Given the description of an element on the screen output the (x, y) to click on. 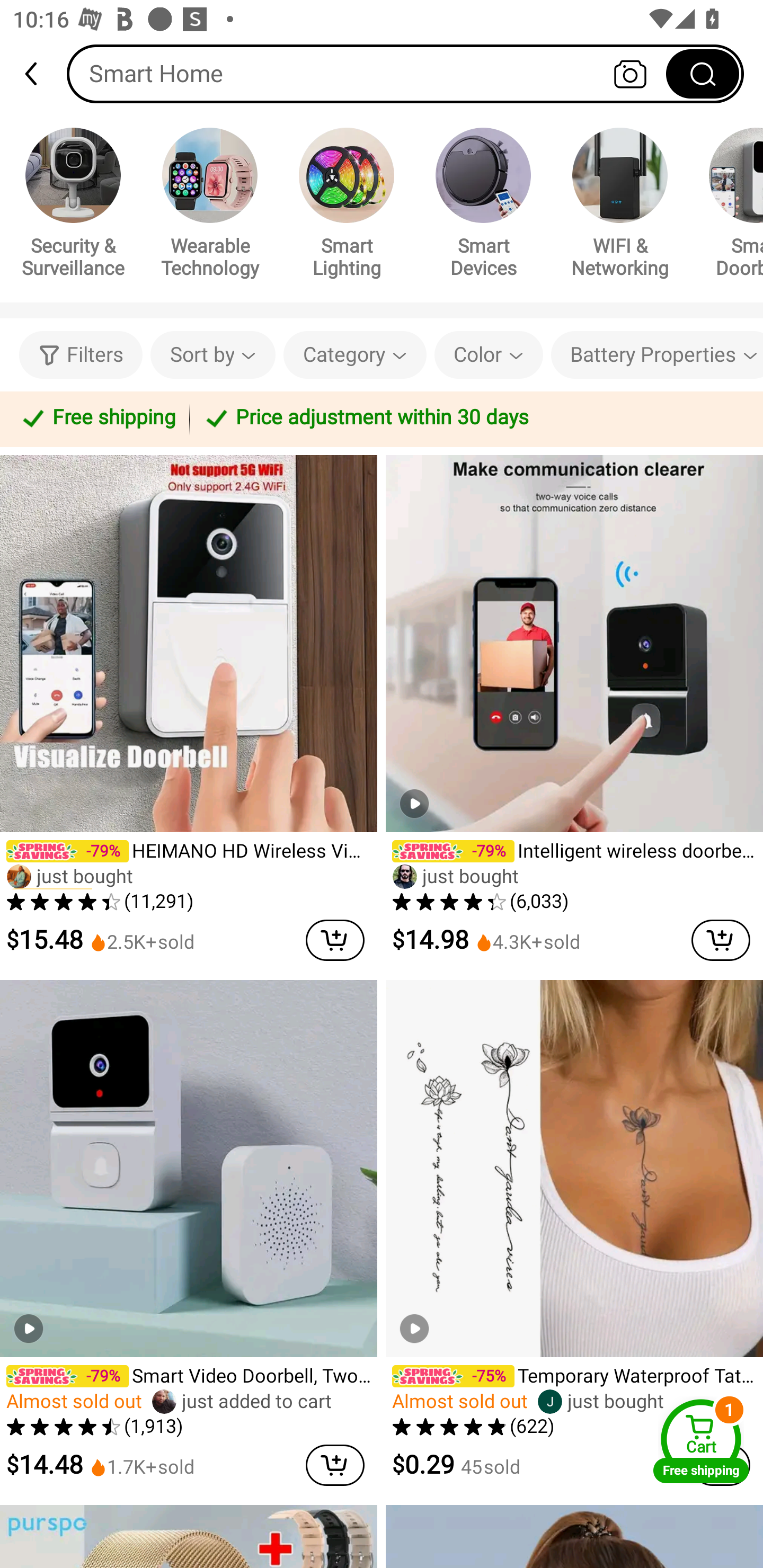
back (39, 73)
Smart Home (405, 73)
Security & Surveillance (73, 205)
Wearable Technology (209, 205)
Smart Lighting (346, 205)
Smart Devices (483, 205)
WIFI & Networking (619, 205)
Filters (80, 354)
Sort by (212, 354)
Category (354, 354)
Color (488, 354)
Battery Properties (656, 354)
Free shipping (97, 418)
Price adjustment within 30 days (472, 418)
cart delete (334, 939)
cart delete (720, 939)
Cart Free shipping Cart (701, 1440)
cart delete (334, 1465)
